Given the description of an element on the screen output the (x, y) to click on. 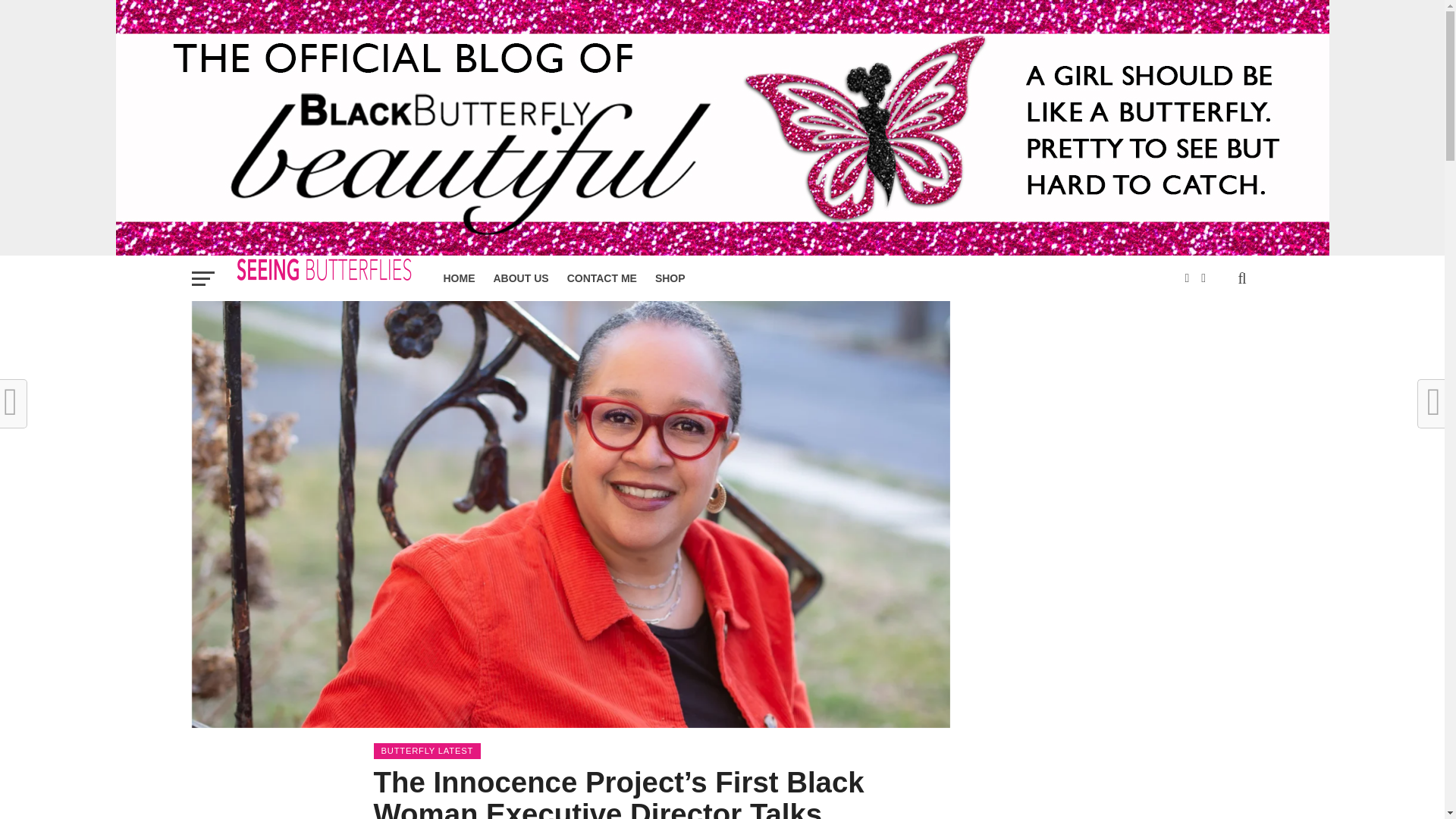
SHOP (670, 278)
HOME (458, 278)
CONTACT ME (601, 278)
ABOUT US (520, 278)
